Given the description of an element on the screen output the (x, y) to click on. 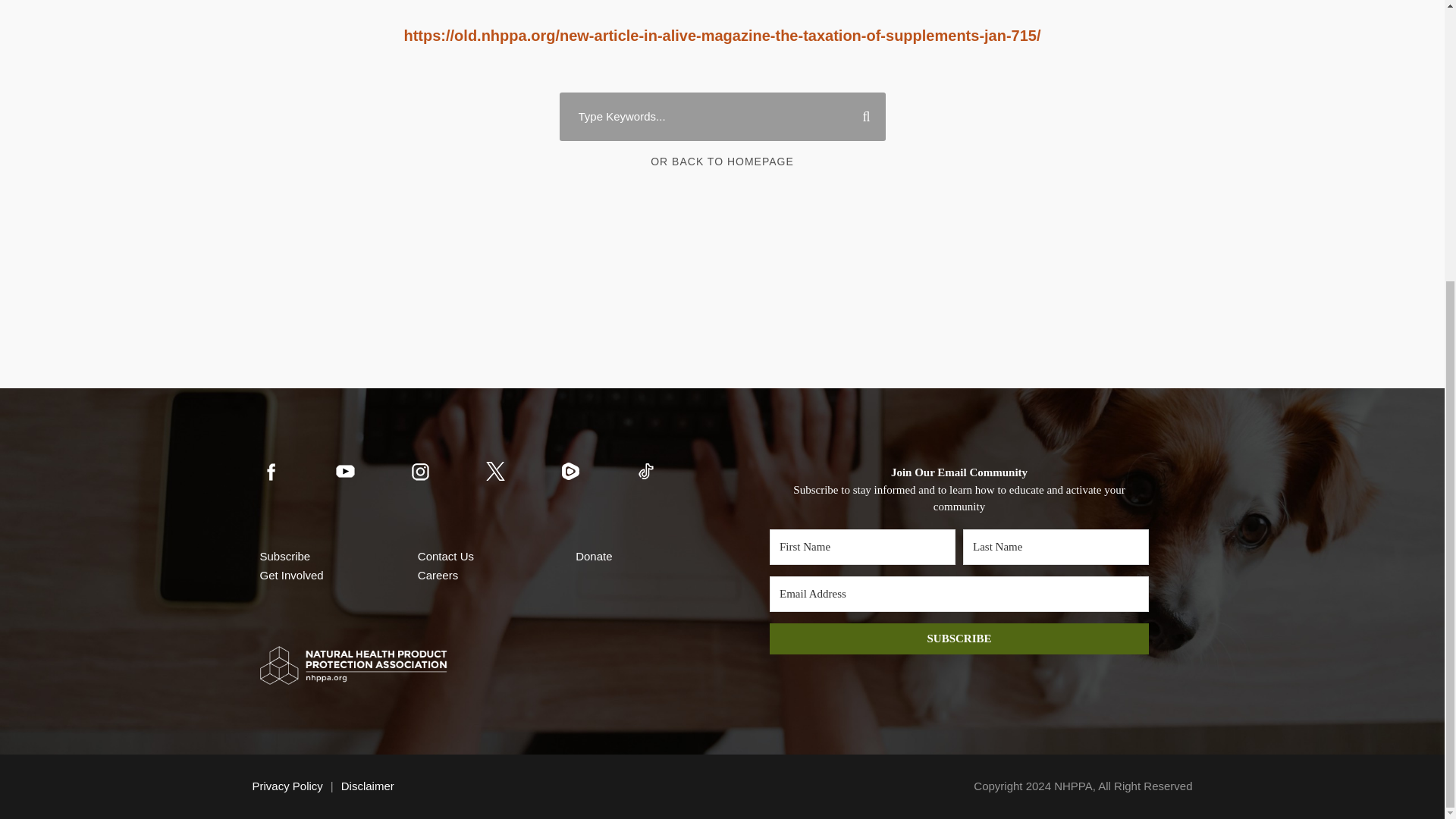
OR BACK TO HOMEPAGE (721, 161)
Search (860, 116)
Subscribe (284, 555)
